Given the description of an element on the screen output the (x, y) to click on. 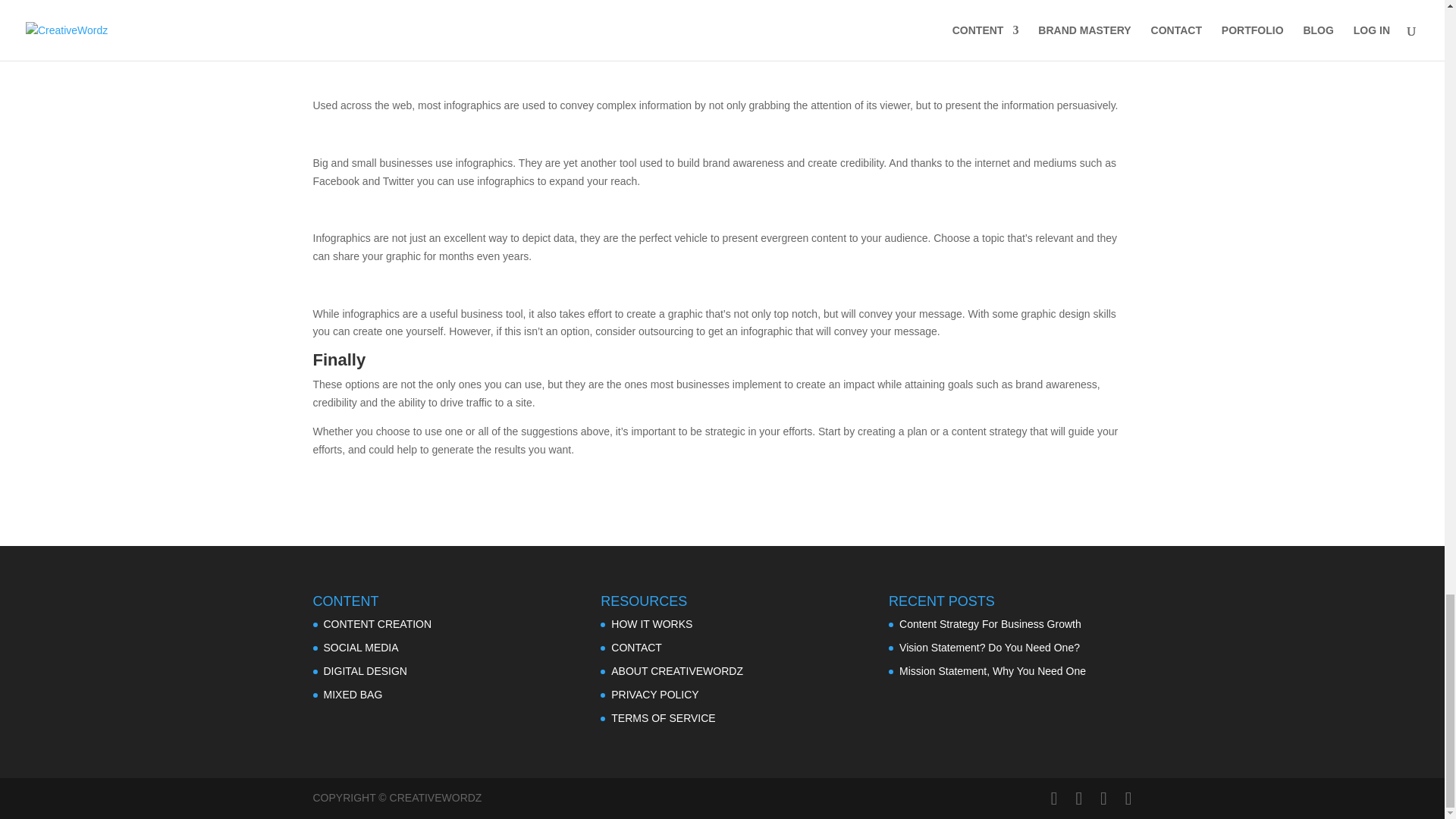
DIGITAL DESIGN (364, 671)
SOCIAL MEDIA (360, 647)
ABOUT CREATIVEWORDZ (676, 671)
CONTACT (636, 647)
CONTENT CREATION (376, 623)
Vision Statement? Do You Need One? (989, 647)
Content Strategy For Business Growth (990, 623)
Mission Statement, Why You Need One (992, 671)
PRIVACY POLICY (654, 694)
HOW IT WORKS (652, 623)
TERMS OF SERVICE (662, 717)
MIXED BAG (352, 694)
